Given the description of an element on the screen output the (x, y) to click on. 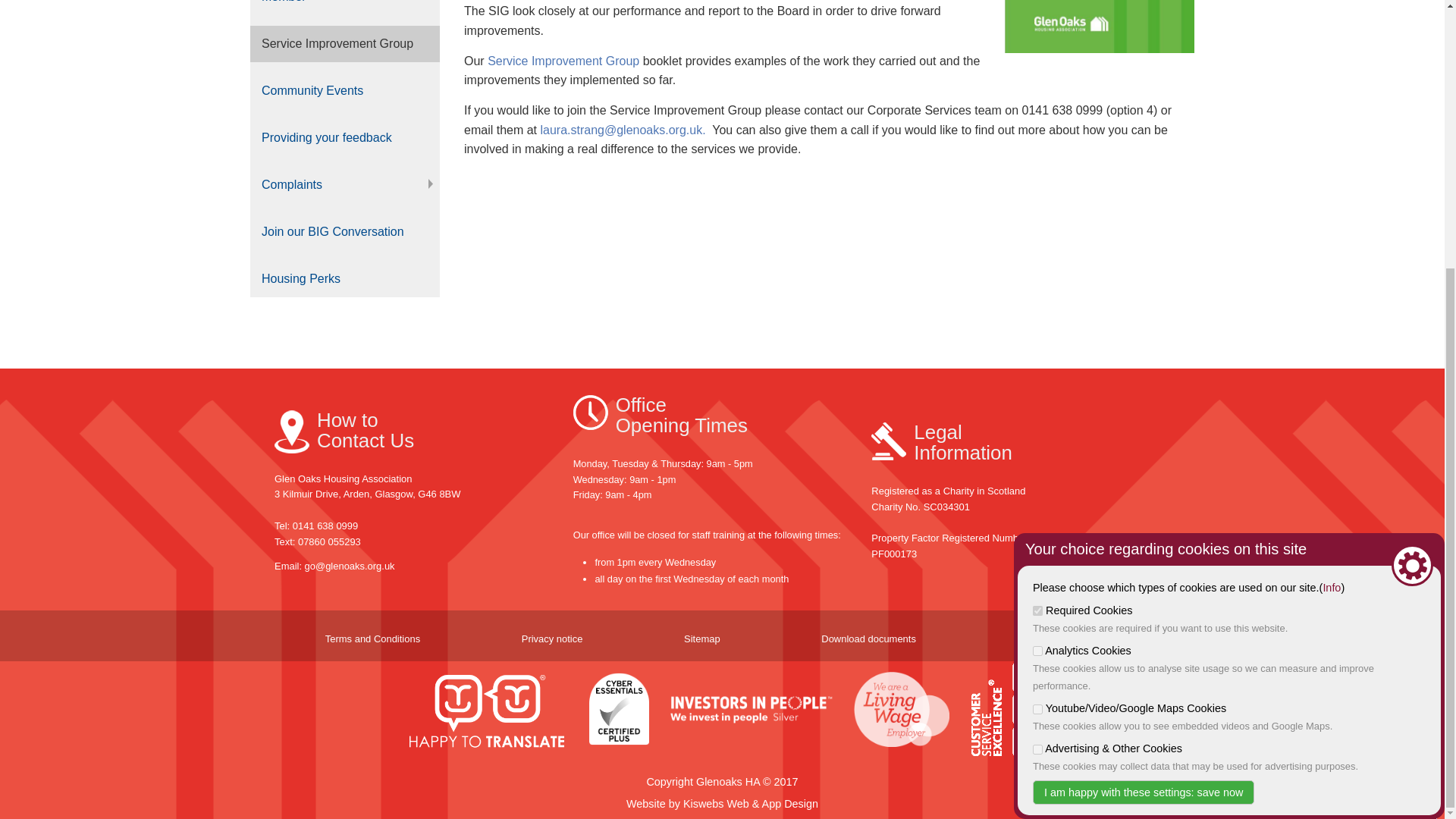
on (1037, 221)
on (1037, 261)
on (1037, 319)
on (1037, 359)
